Given the description of an element on the screen output the (x, y) to click on. 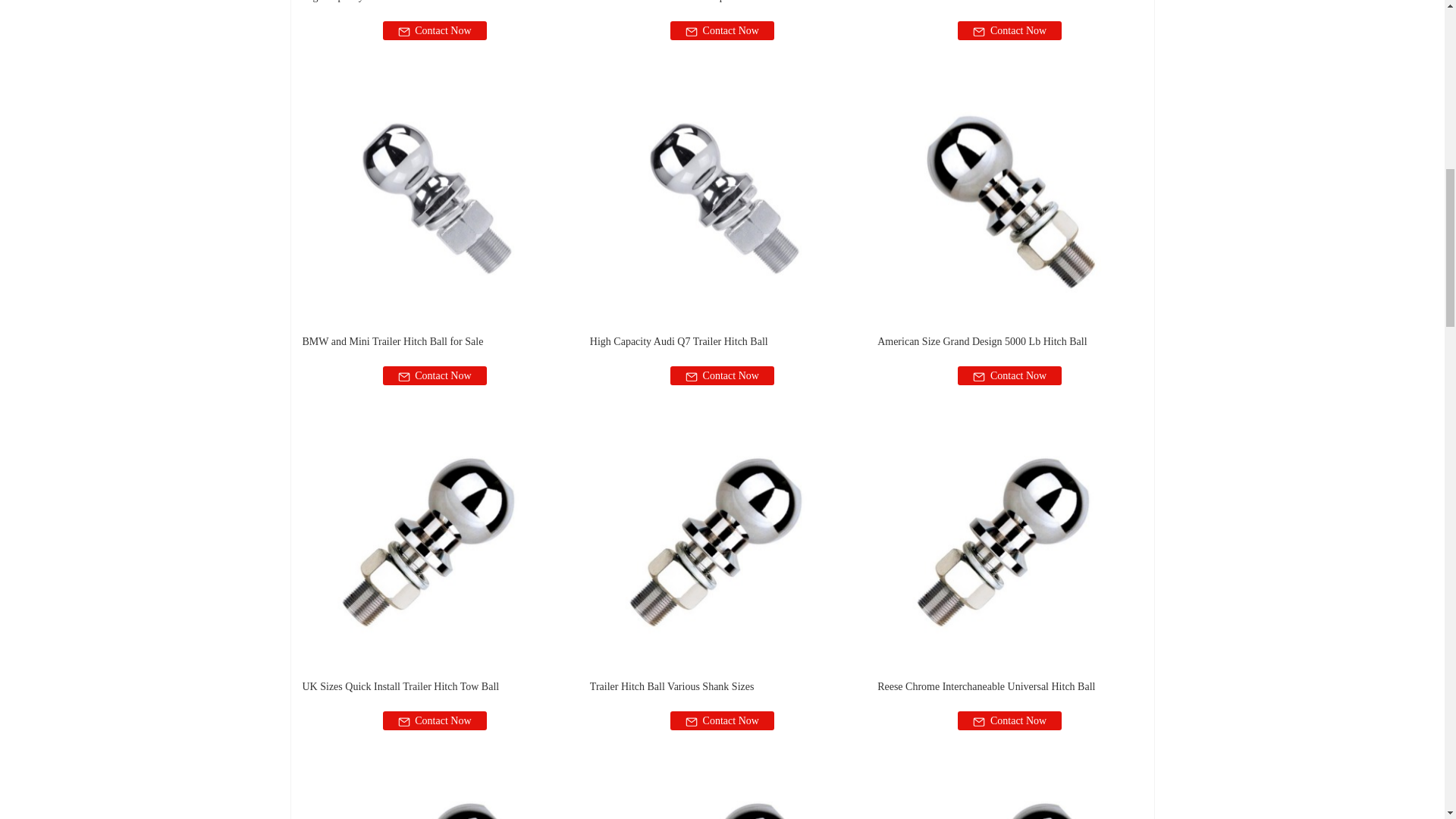
Contact Now (1009, 30)
Contact Now (721, 375)
Contact Now (721, 30)
Contact Now (434, 30)
Contact Now (434, 375)
